Given the description of an element on the screen output the (x, y) to click on. 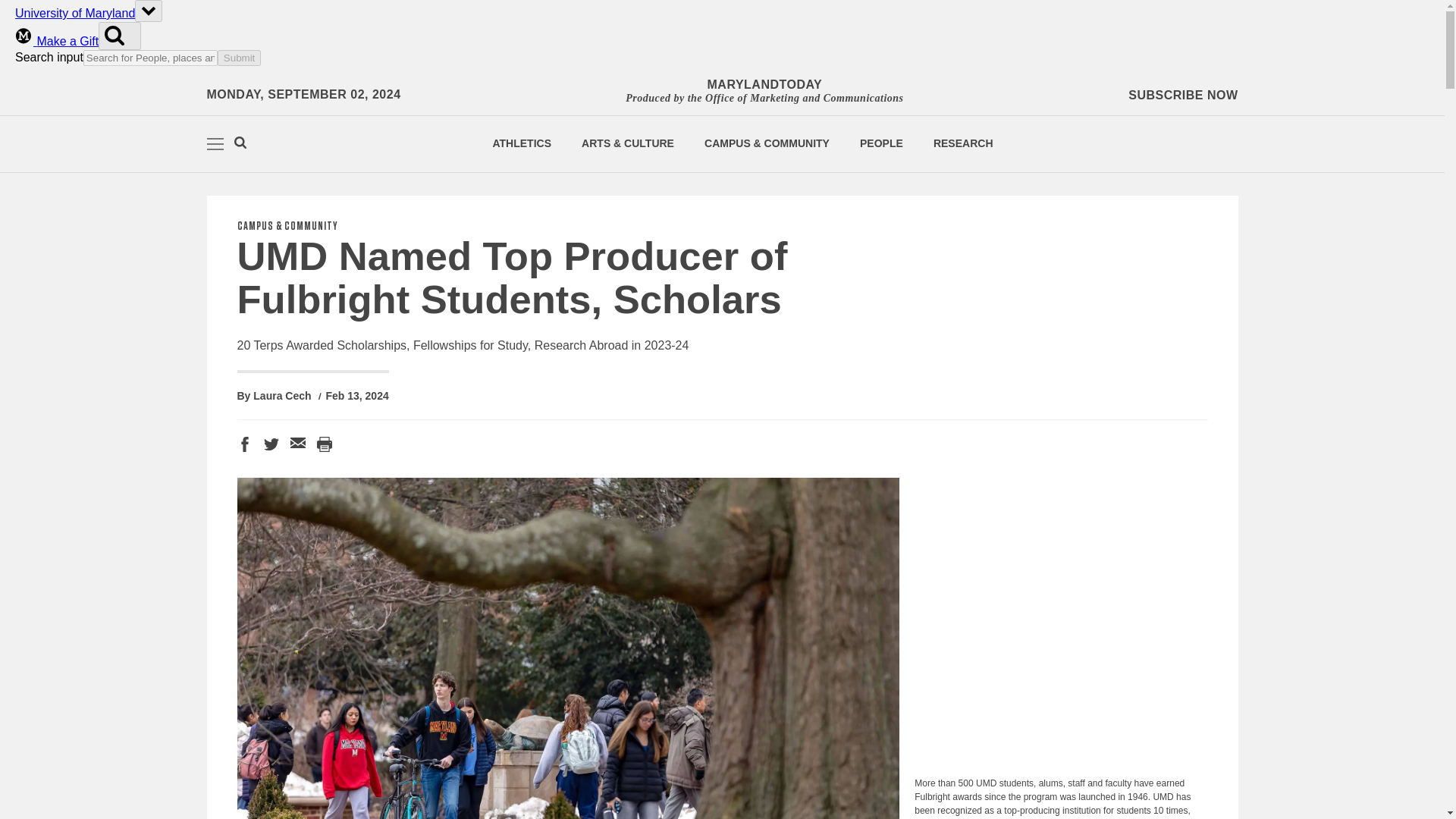
SUBSCRIBE NOW (1182, 95)
Search (239, 144)
PEOPLE (881, 143)
MARYLANDTODAY (764, 84)
Laura Cech (282, 396)
RESEARCH (962, 143)
ATHLETICS (522, 143)
